Given the description of an element on the screen output the (x, y) to click on. 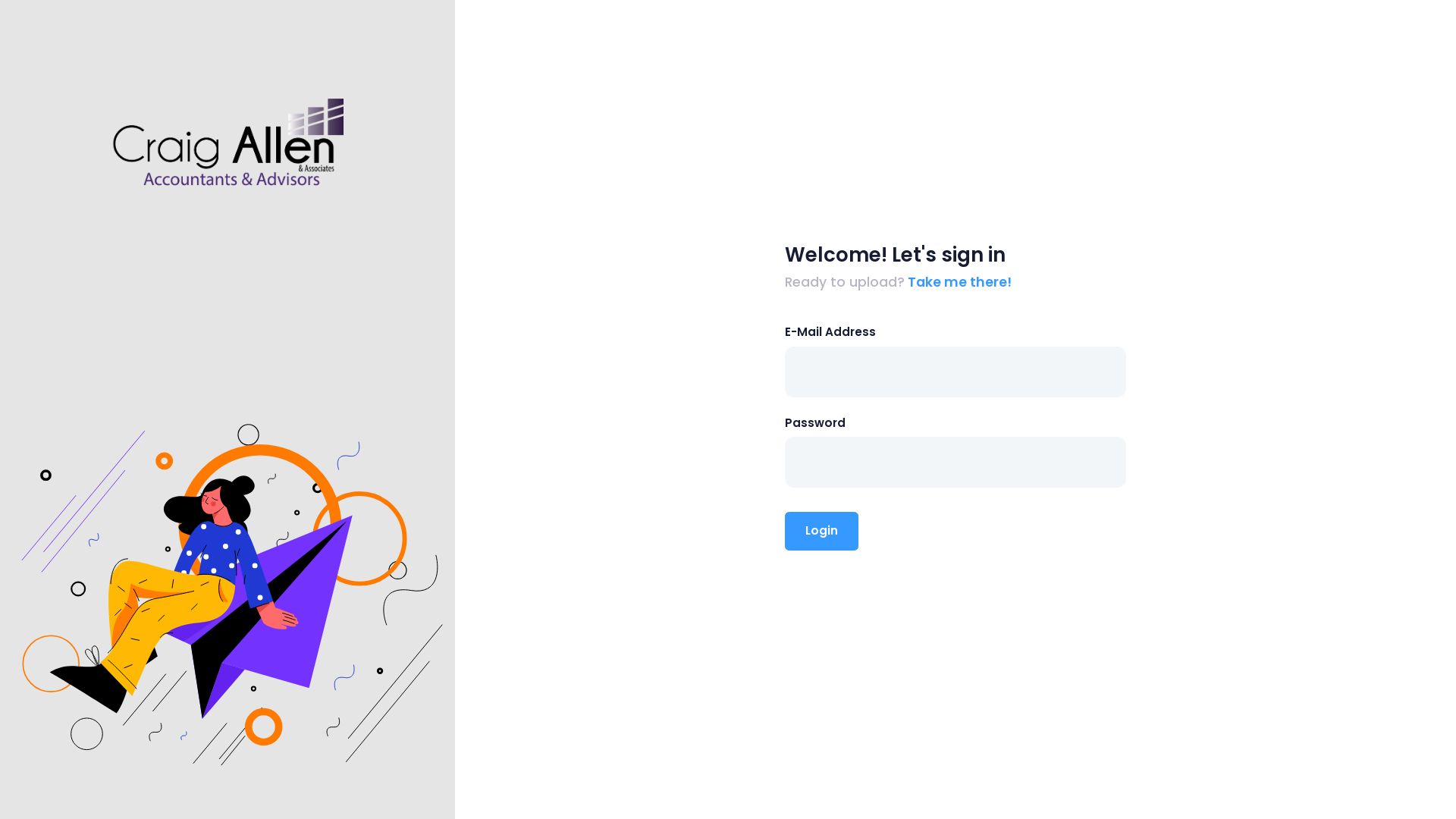
Login Element type: text (821, 530)
Take me there! Element type: text (957, 282)
